Given the description of an element on the screen output the (x, y) to click on. 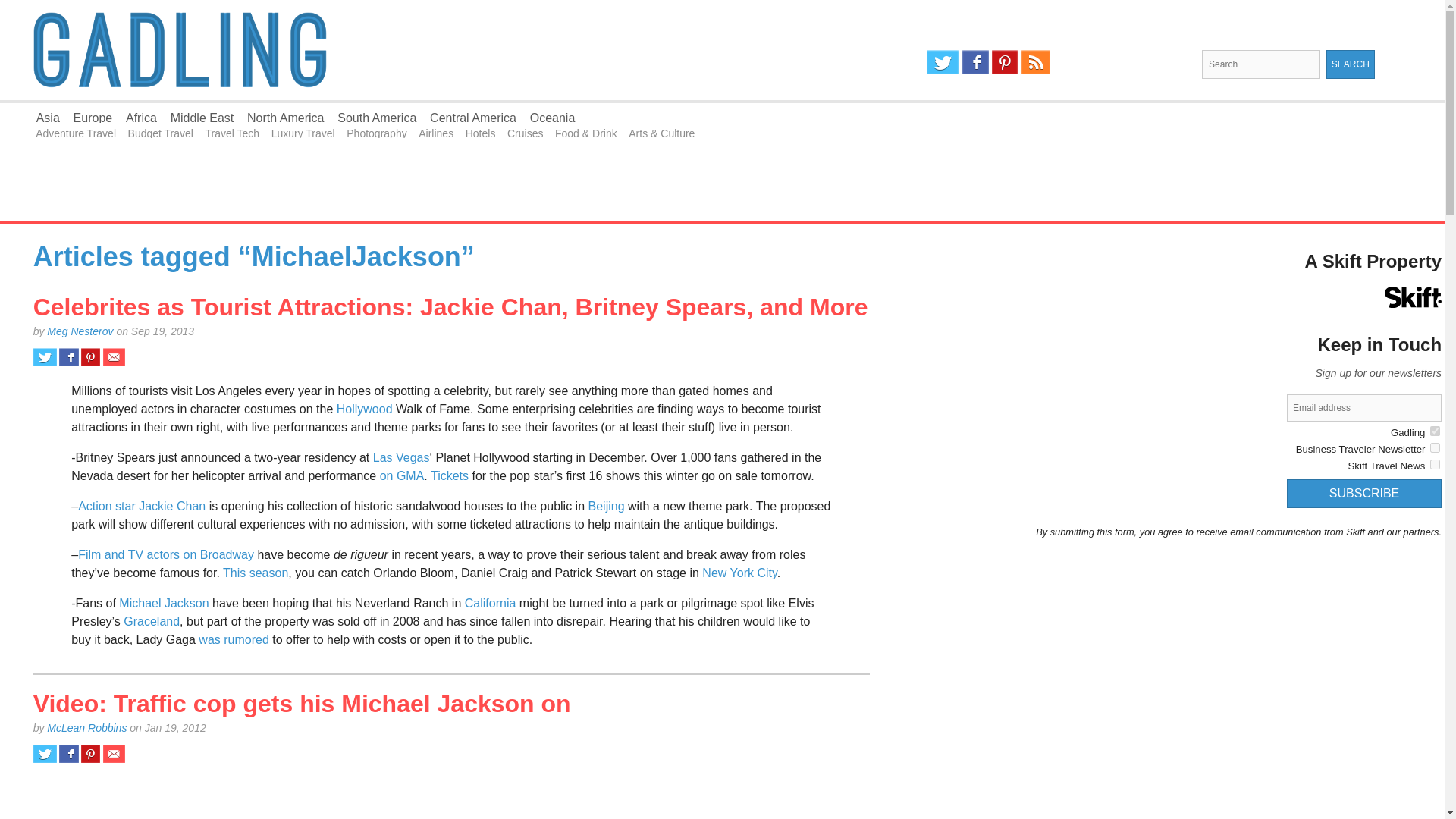
Share on Twitter (44, 753)
Cruises (524, 133)
This season (255, 572)
Airlines (435, 133)
Meg Nesterov (79, 331)
Film and TV actors on Broadway (165, 554)
Luxury Travel (302, 133)
Beijing (606, 505)
New York City (738, 572)
Share via email (114, 753)
Pinterest (1004, 61)
on GMA (402, 475)
RSS Feed (1035, 61)
Share on Pinterest (90, 357)
